Given the description of an element on the screen output the (x, y) to click on. 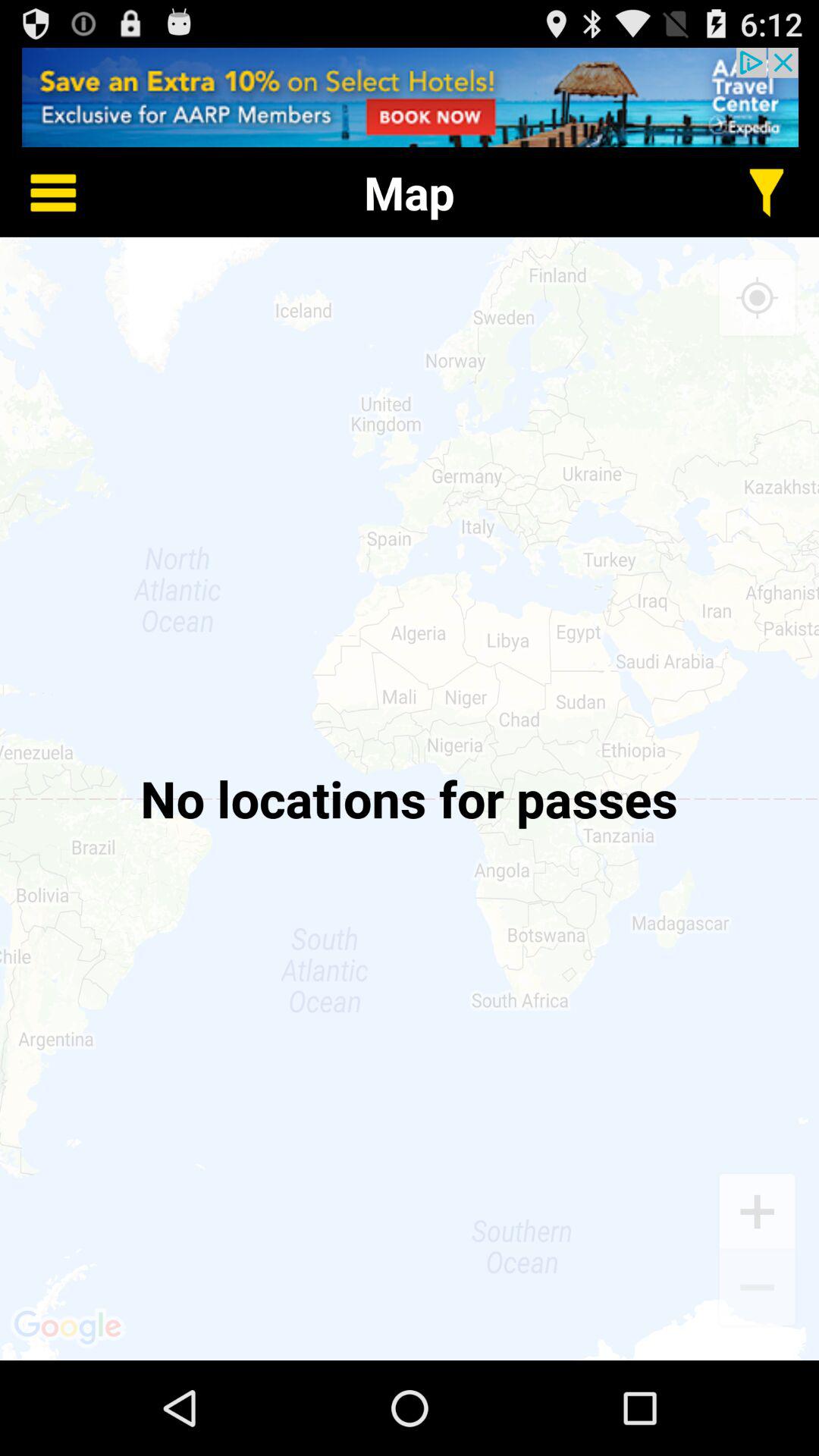
view options (42, 192)
